Given the description of an element on the screen output the (x, y) to click on. 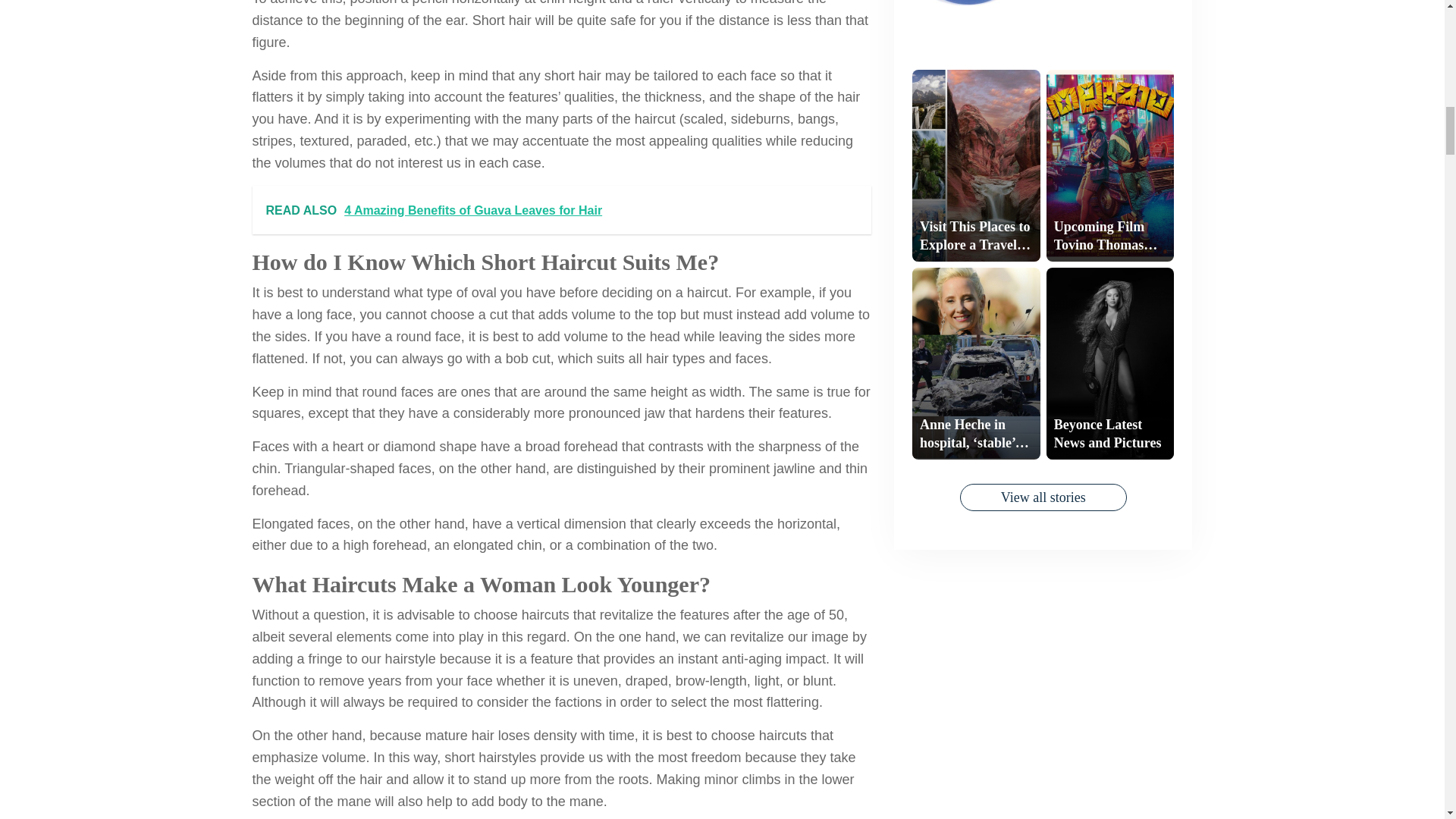
READ ALSO  4 Amazing Benefits of Guava Leaves for Hair (560, 210)
